Given the description of an element on the screen output the (x, y) to click on. 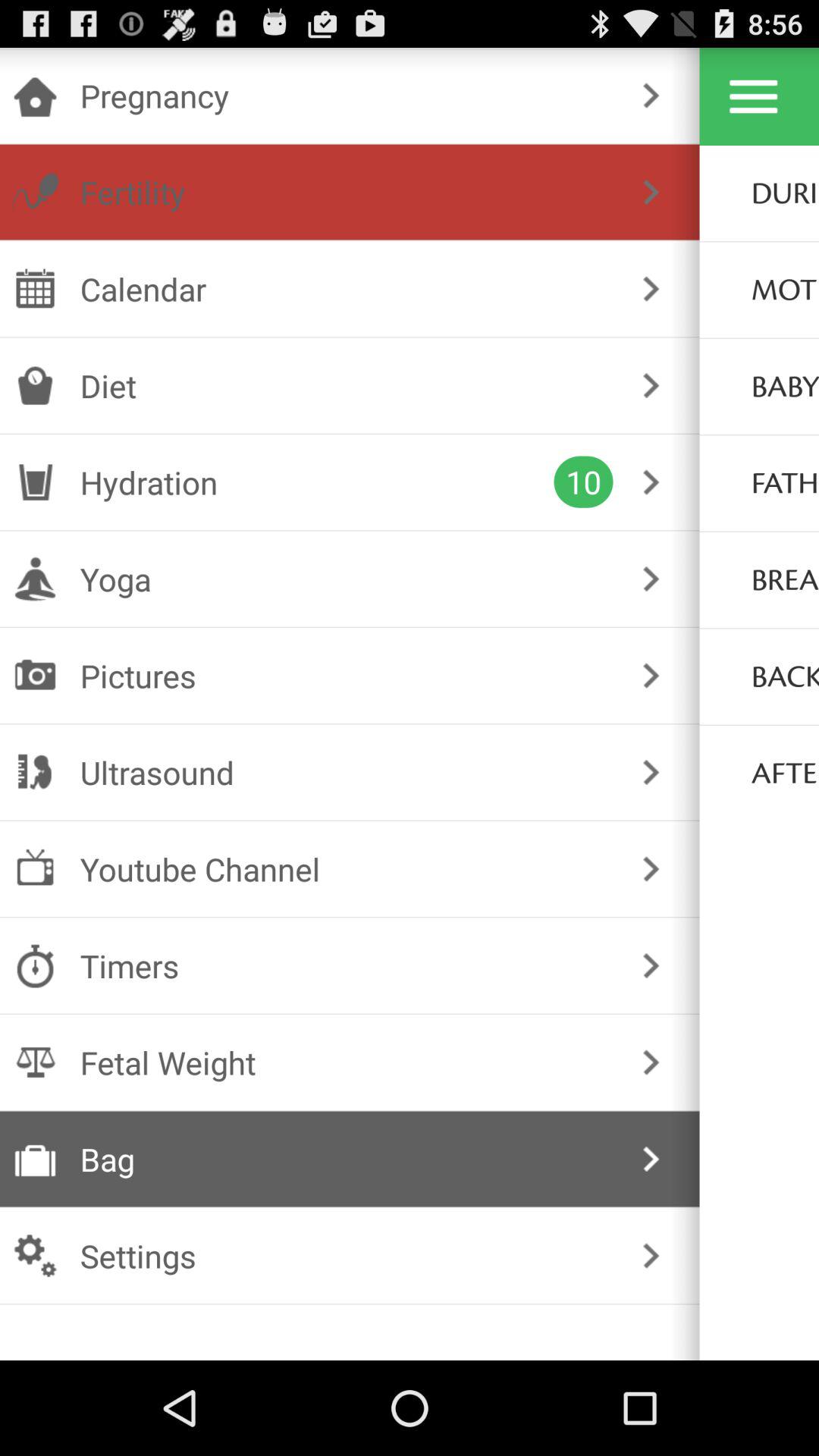
scroll until youtube channel icon (346, 868)
